Given the description of an element on the screen output the (x, y) to click on. 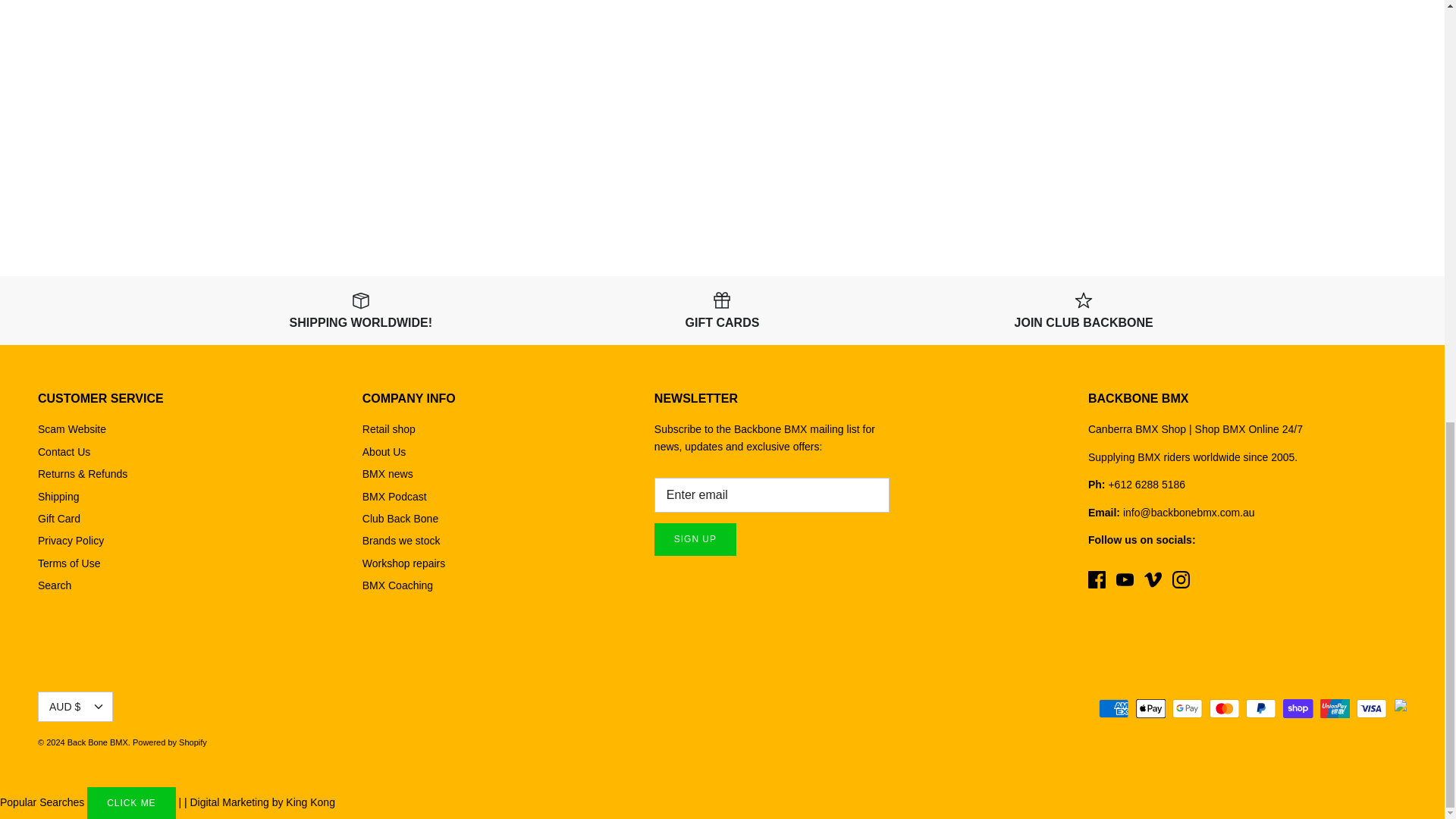
PayPal (1260, 708)
tel:61262885186 (1150, 484)
Instagram (1180, 579)
Facebook (1096, 579)
Mastercard (1224, 708)
Visa (1371, 708)
American Express (1113, 708)
Apple Pay (1150, 708)
Shop Pay (1297, 708)
Down (97, 706)
